Given the description of an element on the screen output the (x, y) to click on. 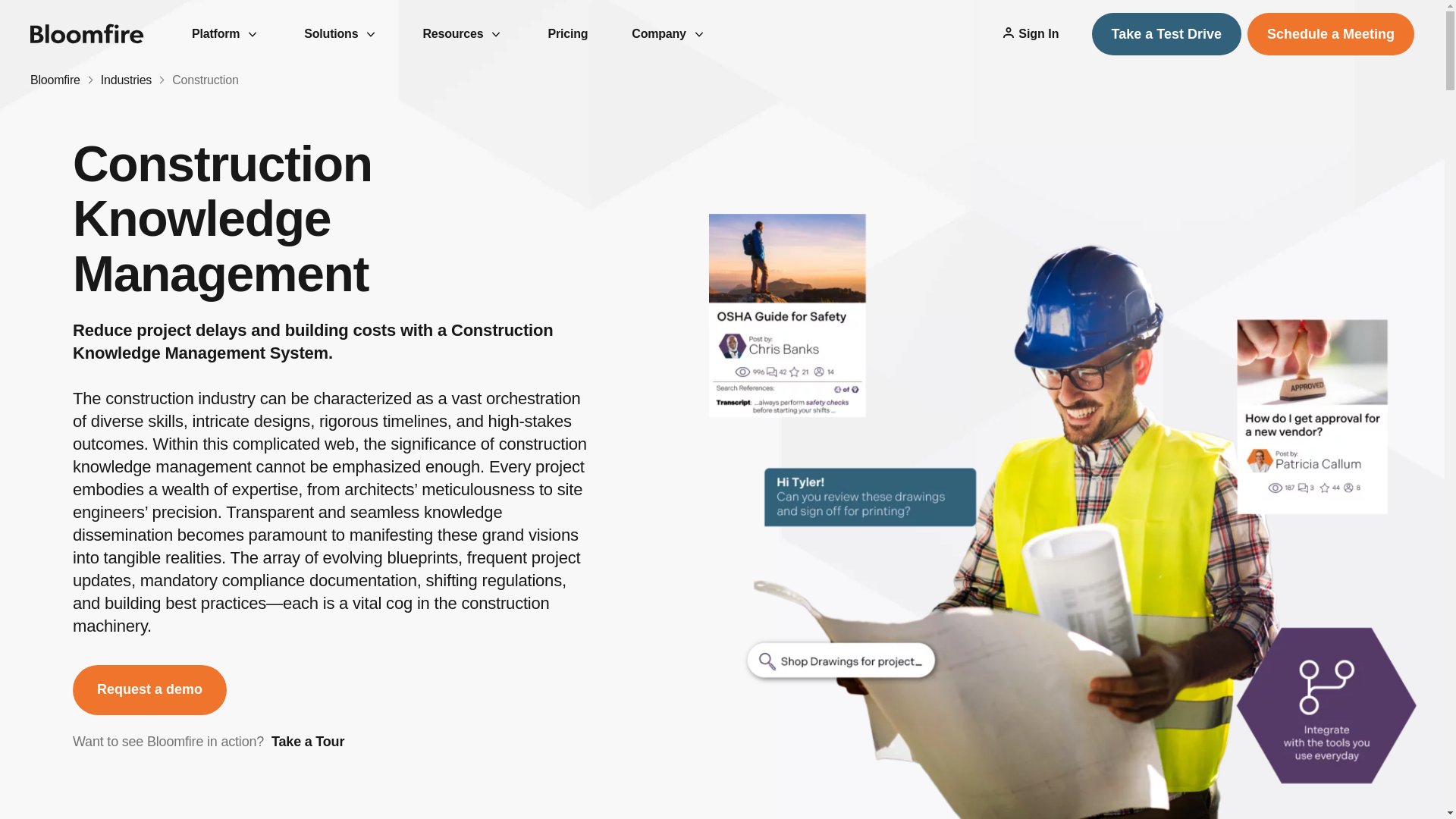
Resources (462, 33)
Go to Industries. (125, 79)
Platform (225, 33)
Go to Bloomfire. (55, 79)
Solutions (340, 33)
